Given the description of an element on the screen output the (x, y) to click on. 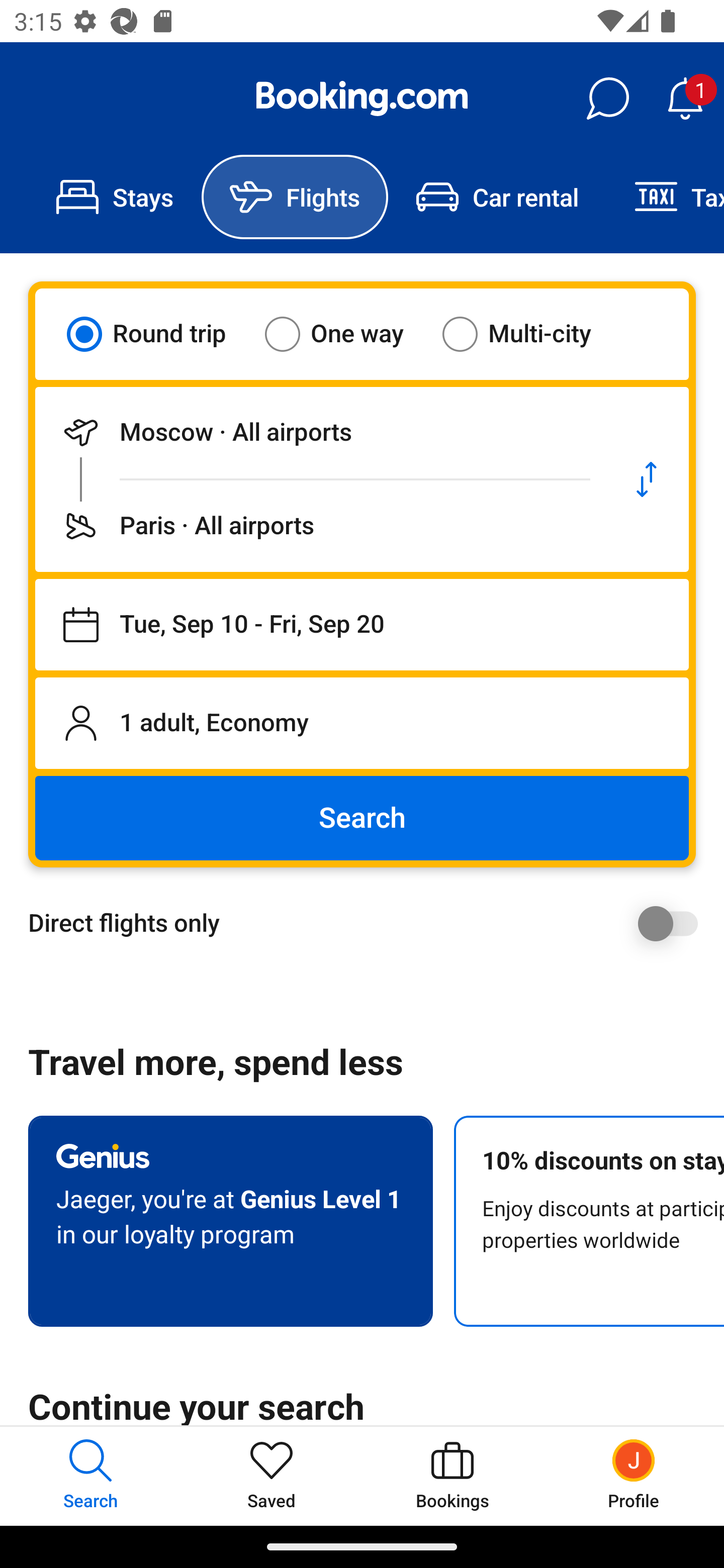
Messages (607, 98)
Notifications (685, 98)
Stays (114, 197)
Flights (294, 197)
Car rental (497, 197)
Taxi (665, 197)
One way (346, 333)
Multi-city (528, 333)
Departing from Moscow · All airports (319, 432)
Swap departure location and destination (646, 479)
Flying to Paris · All airports (319, 525)
Departing on Tue, Sep 10, returning on Fri, Sep 20 (361, 624)
1 adult, Economy (361, 722)
Search (361, 818)
Direct flights only (369, 923)
Saved (271, 1475)
Bookings (452, 1475)
Profile (633, 1475)
